Given the description of an element on the screen output the (x, y) to click on. 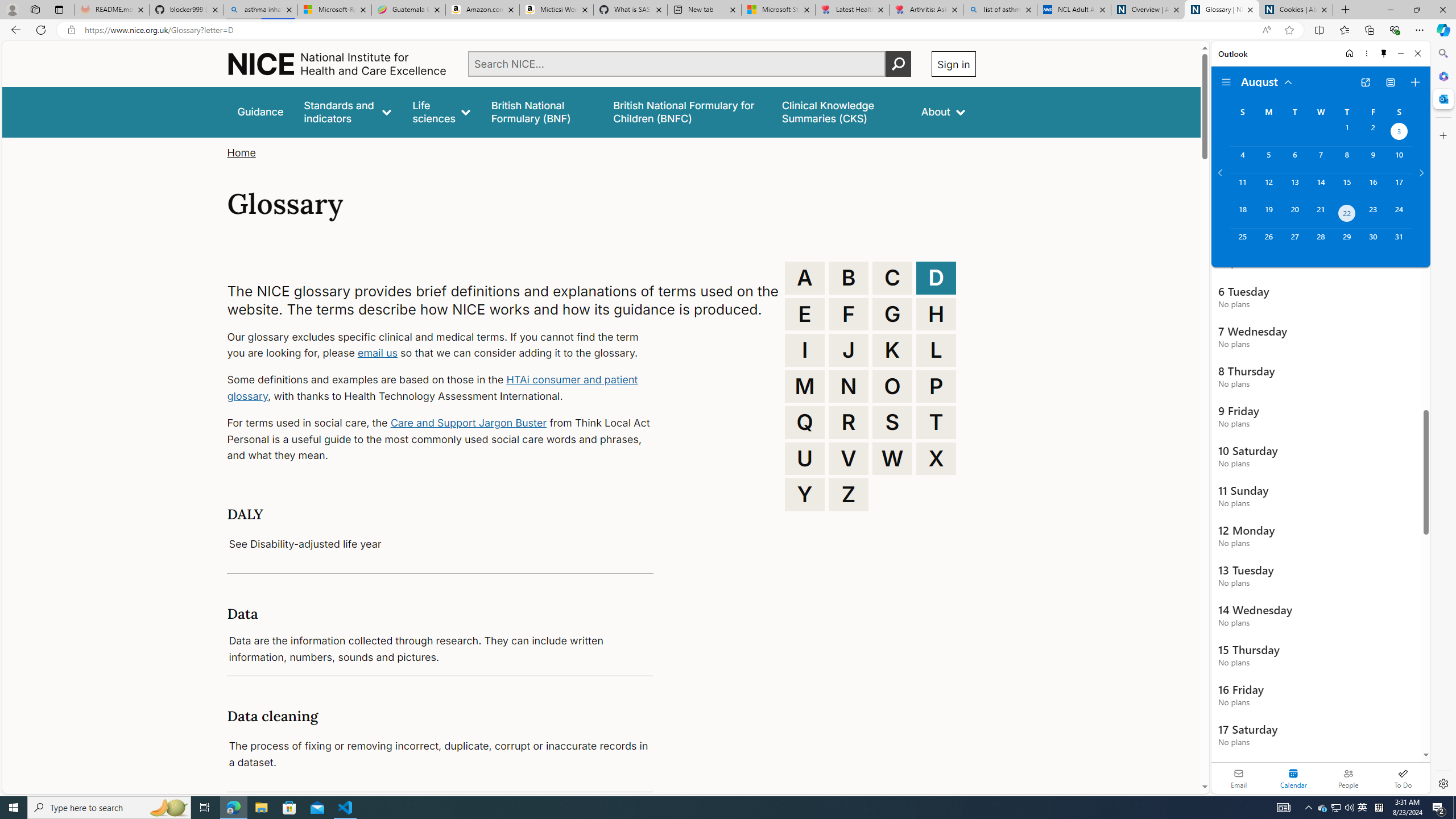
To Do (1402, 777)
H (935, 313)
Wednesday, August 14, 2024.  (1320, 186)
Read aloud this page (Ctrl+Shift+U) (1266, 29)
T (935, 422)
Settings (1442, 783)
asthma inhaler - Search (260, 9)
Saturday, August 31, 2024.  (1399, 241)
Guidance (260, 111)
O (892, 385)
Y (804, 494)
A (804, 277)
